Given the description of an element on the screen output the (x, y) to click on. 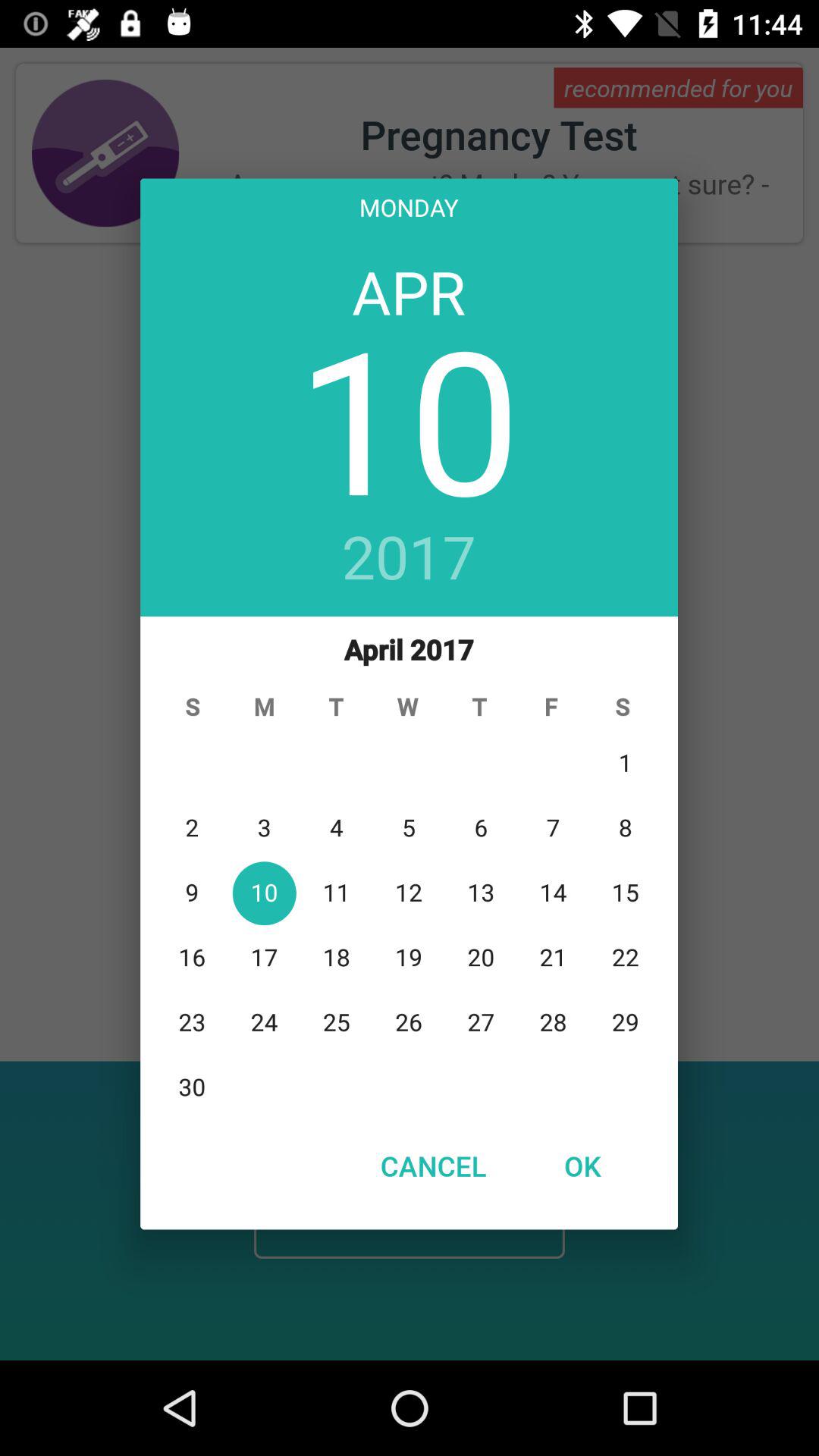
scroll until ok button (582, 1165)
